Given the description of an element on the screen output the (x, y) to click on. 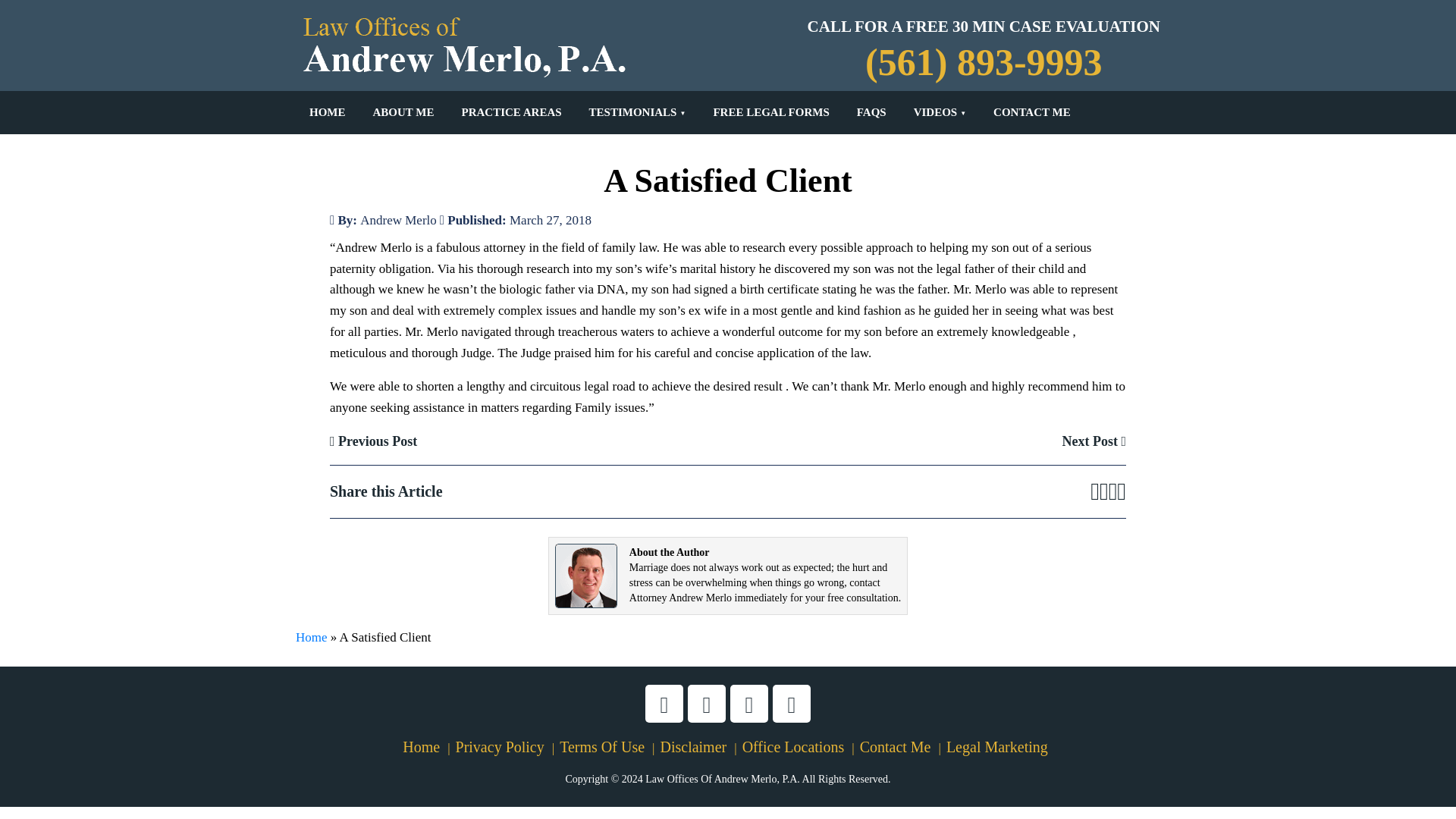
TESTIMONIALS (637, 112)
FAQS (871, 112)
PRACTICE AREAS (510, 112)
CONTACT ME (1031, 112)
VIDEOS (939, 112)
Home (311, 636)
HOME (327, 112)
ABOUT ME (403, 112)
Next Post (1093, 441)
FREE LEGAL FORMS (770, 112)
